Given the description of an element on the screen output the (x, y) to click on. 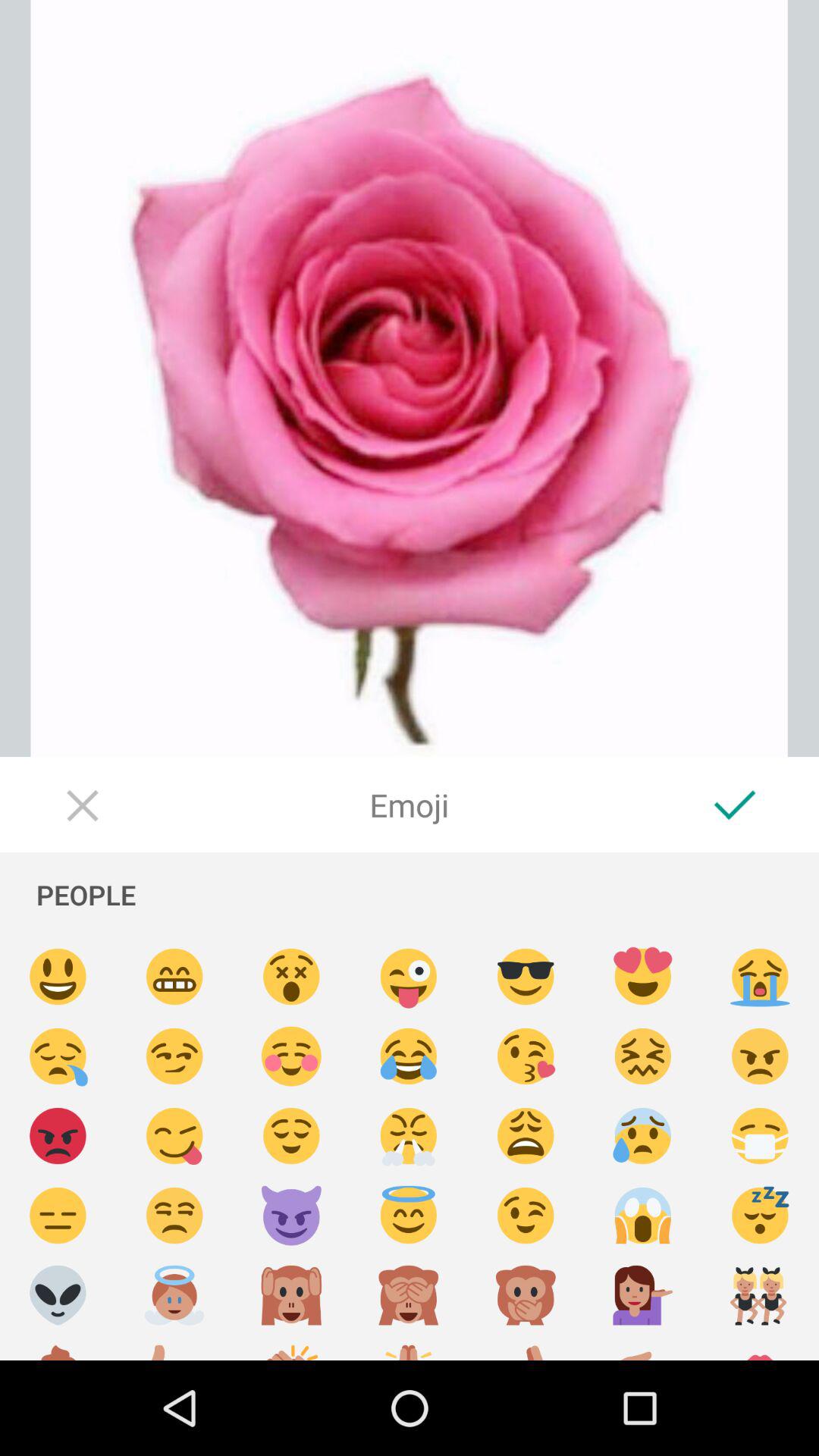
emoji button (525, 976)
